Given the description of an element on the screen output the (x, y) to click on. 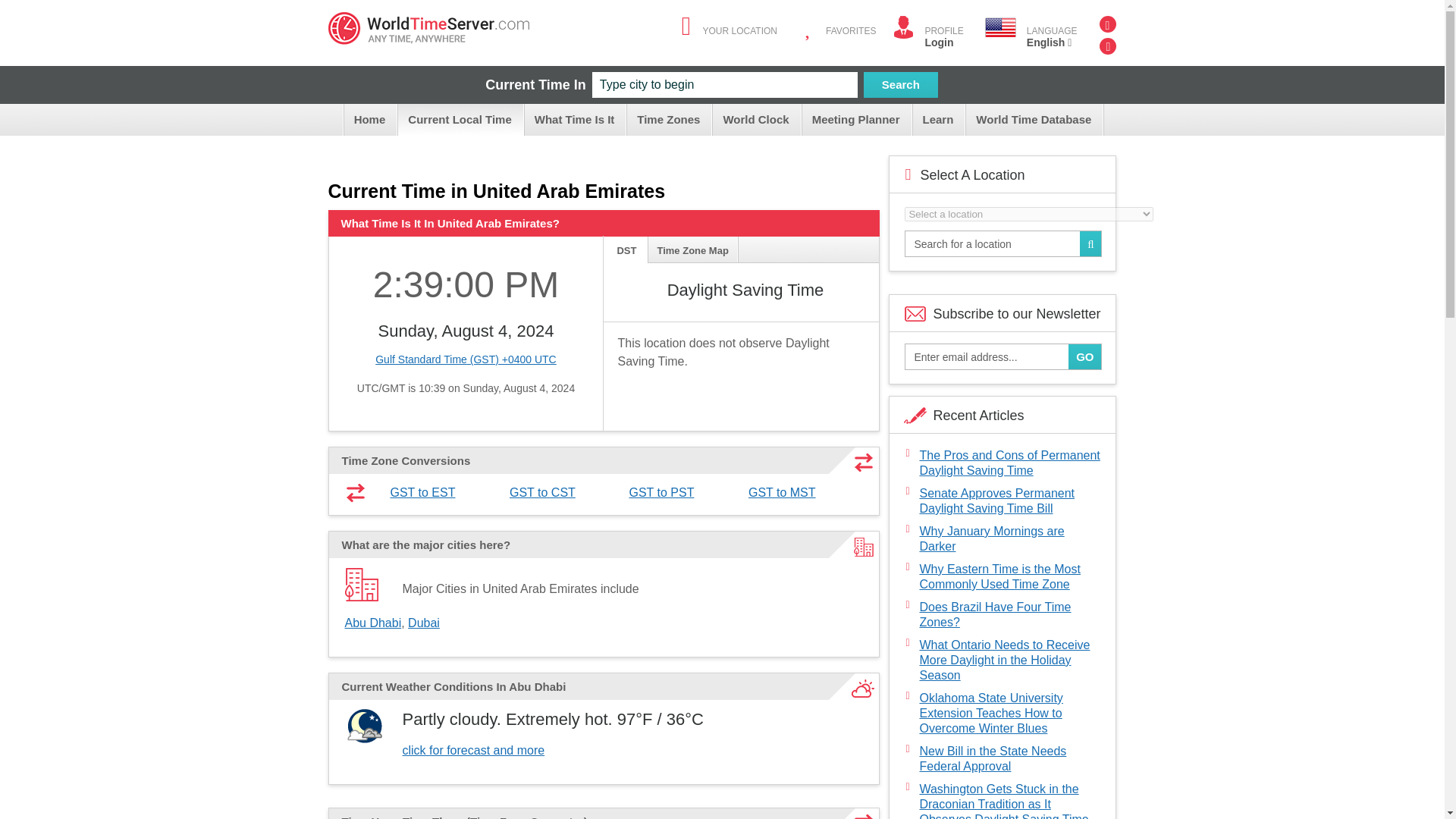
WorldTimeServer.com (427, 28)
Time Zone Map (692, 249)
What Time Is It (575, 119)
DST (625, 249)
Learn (939, 119)
GST to CST (542, 492)
Current Local Time (460, 119)
World Time Database (1034, 119)
World Clock (757, 119)
FAVORITES (850, 30)
Login (938, 42)
Time Zones (670, 119)
Home (370, 119)
WorldTimeServer.com (427, 28)
Meeting Planner (857, 119)
